Given the description of an element on the screen output the (x, y) to click on. 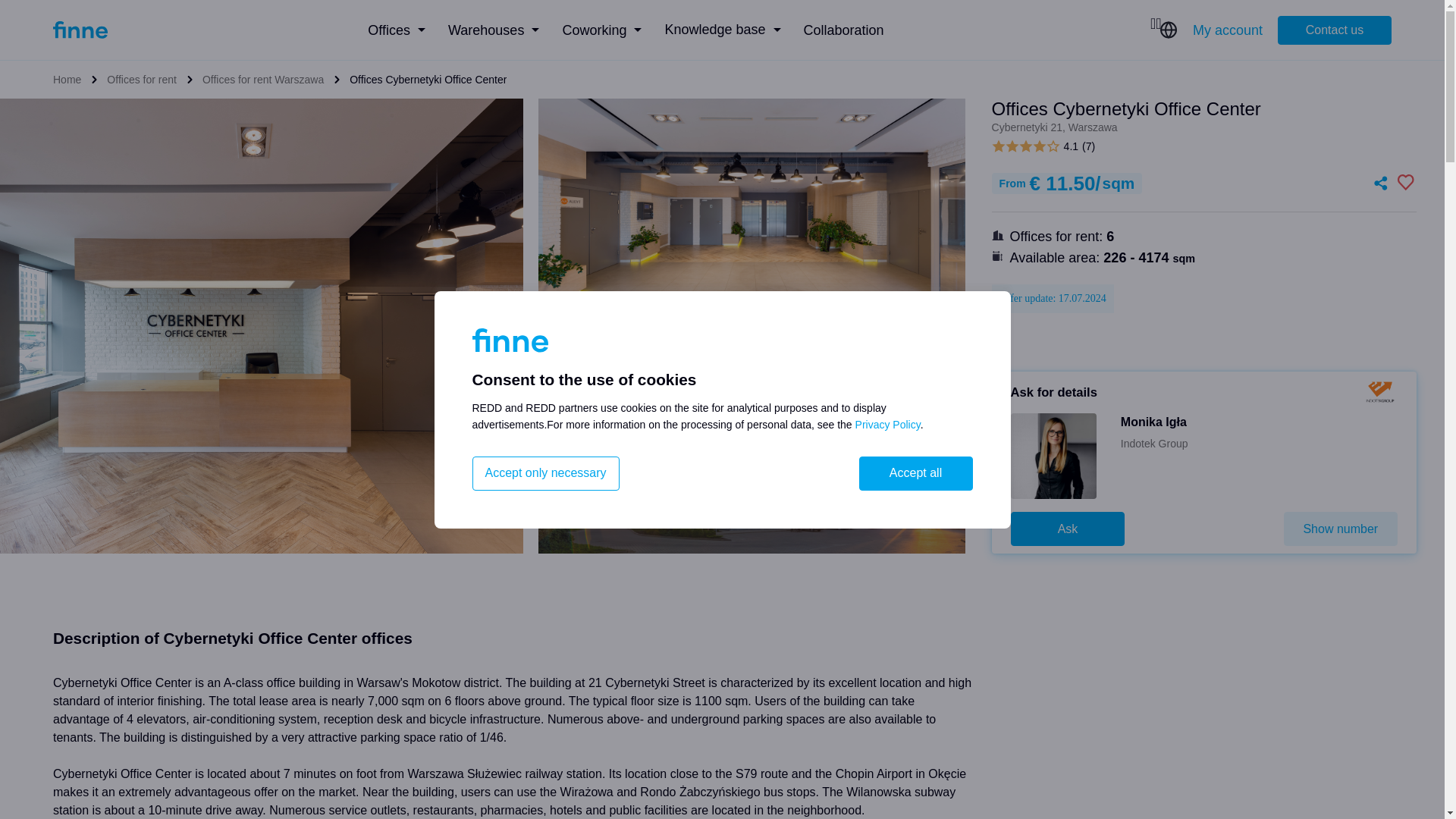
My account (1227, 29)
Contact us (1334, 29)
Warehouses (493, 29)
Collaboration (843, 29)
Home (66, 79)
Accept all (915, 473)
Coworking (602, 29)
Offices for rent (141, 79)
Offices (396, 29)
Accept only necessary (544, 473)
Privacy Policy (888, 424)
